Given the description of an element on the screen output the (x, y) to click on. 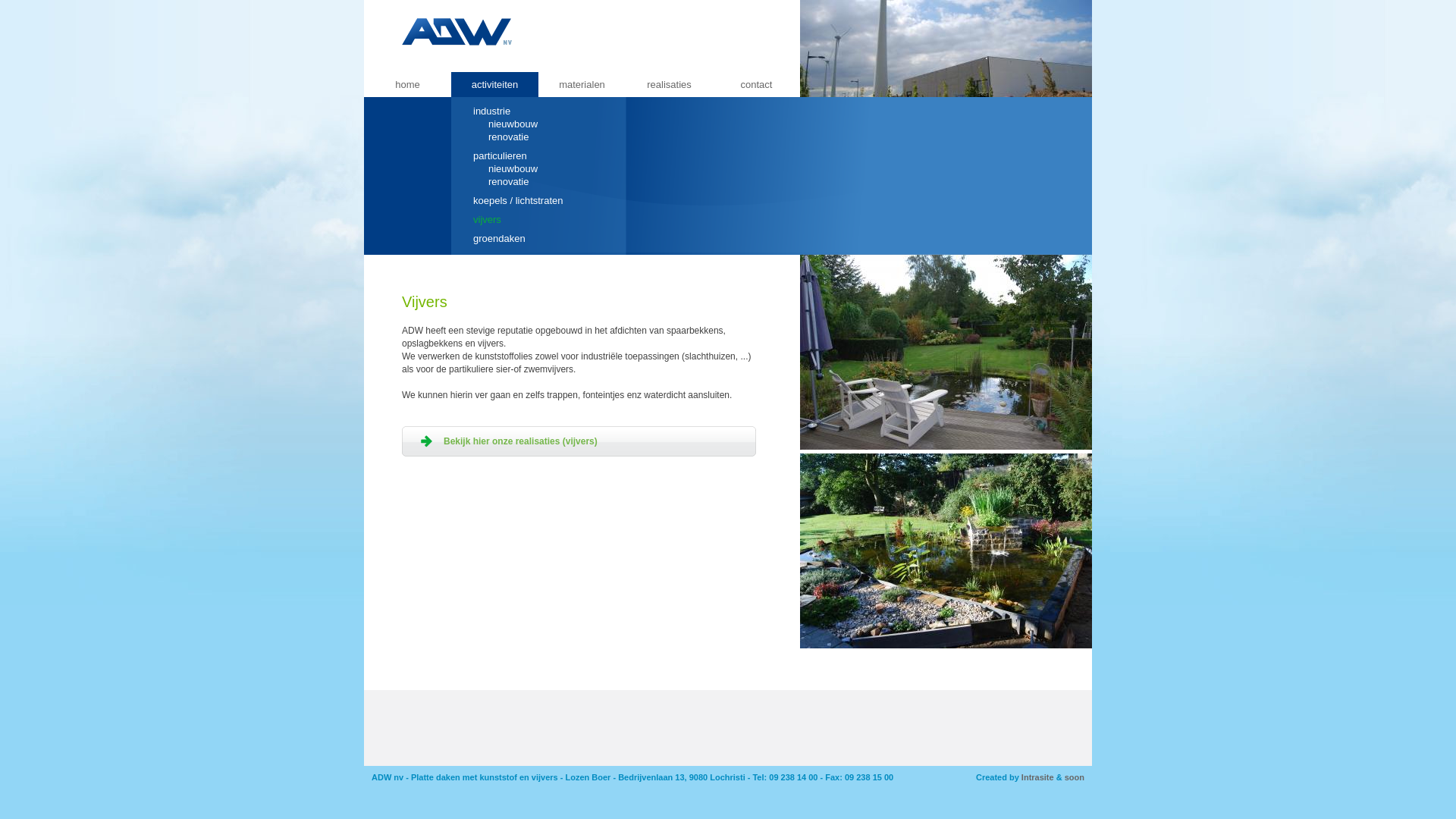
groendaken Element type: text (499, 238)
Bekijk hier onze realisaties (vijvers) Element type: text (580, 441)
soon Element type: text (1074, 776)
koepels / lichtstraten Element type: text (518, 200)
nieuwbouw Element type: text (512, 168)
nieuwbouw Element type: text (512, 123)
renovatie Element type: text (508, 136)
materialen Element type: text (581, 84)
contact Element type: text (756, 84)
home Element type: text (407, 84)
activiteiten Element type: text (494, 84)
realisaties Element type: text (668, 84)
renovatie Element type: text (508, 181)
vijvers Element type: text (487, 219)
Intrasite Element type: text (1037, 776)
